Given the description of an element on the screen output the (x, y) to click on. 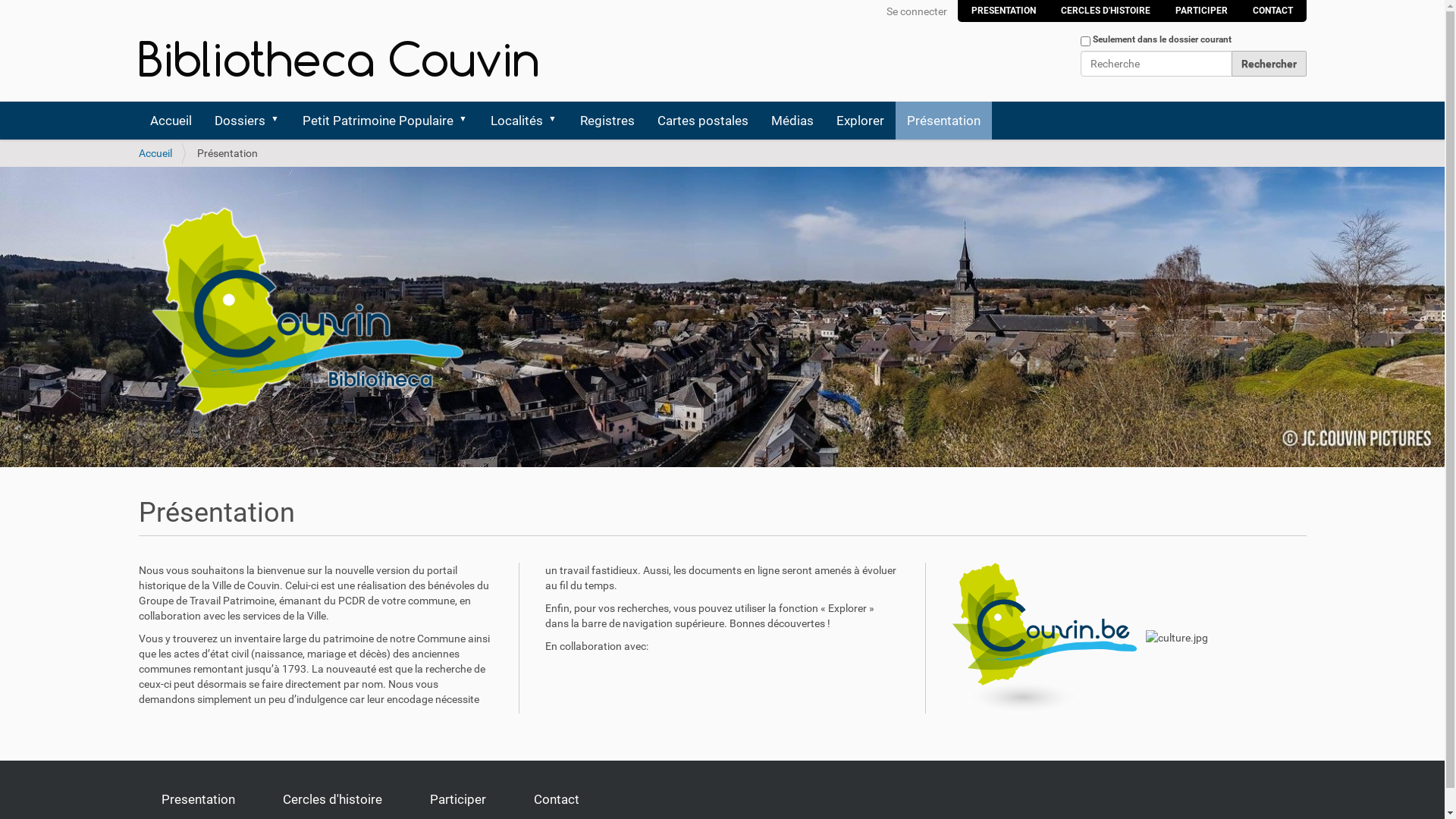
Se connecter Element type: text (915, 11)
Accueil Element type: text (170, 120)
Cercles d'histoire Element type: text (331, 799)
Petit Patrimoine Populaire Element type: text (385, 120)
Presentation Element type: text (197, 799)
Cartes postales Element type: text (702, 120)
Recherche Element type: hover (1155, 63)
Registres Element type: text (607, 120)
Site Element type: hover (342, 59)
Participer Element type: text (457, 799)
PRESENTATION Element type: text (1002, 10)
Rechercher Element type: text (1268, 63)
Contact Element type: text (556, 799)
LOGO COUVINBE.png Element type: hover (1044, 637)
Explorer Element type: text (860, 120)
CONTACT Element type: text (1272, 10)
Accueil Element type: text (154, 153)
Dossiers Element type: text (247, 120)
CERCLES D'HISTOIRE Element type: text (1104, 10)
PARTICIPER Element type: text (1201, 10)
